Given the description of an element on the screen output the (x, y) to click on. 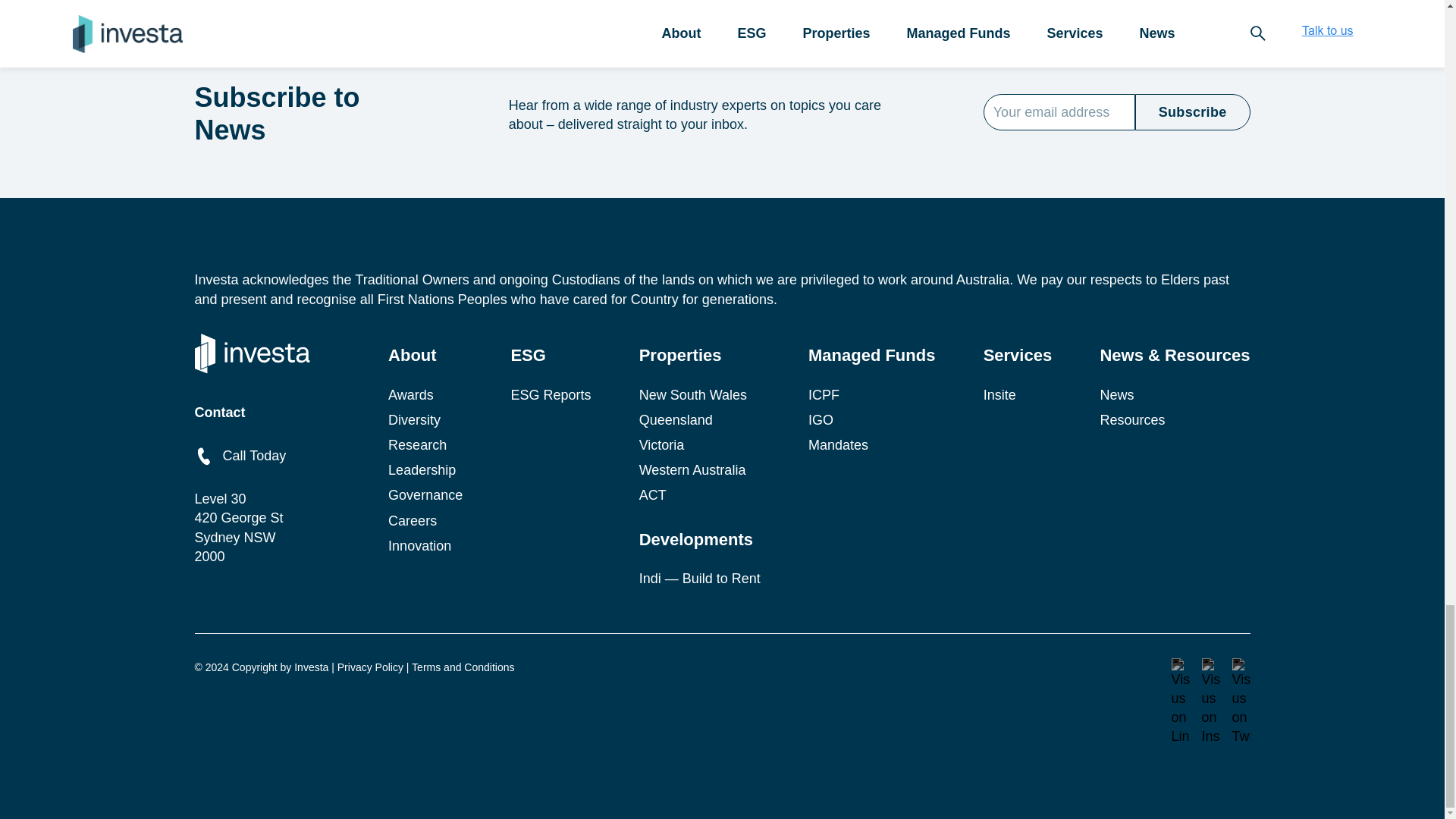
Investa Logo (250, 353)
Subscribe (1192, 112)
Call Today (239, 456)
LinkedIn (1179, 702)
Instagram (1210, 702)
phone (202, 456)
